Given the description of an element on the screen output the (x, y) to click on. 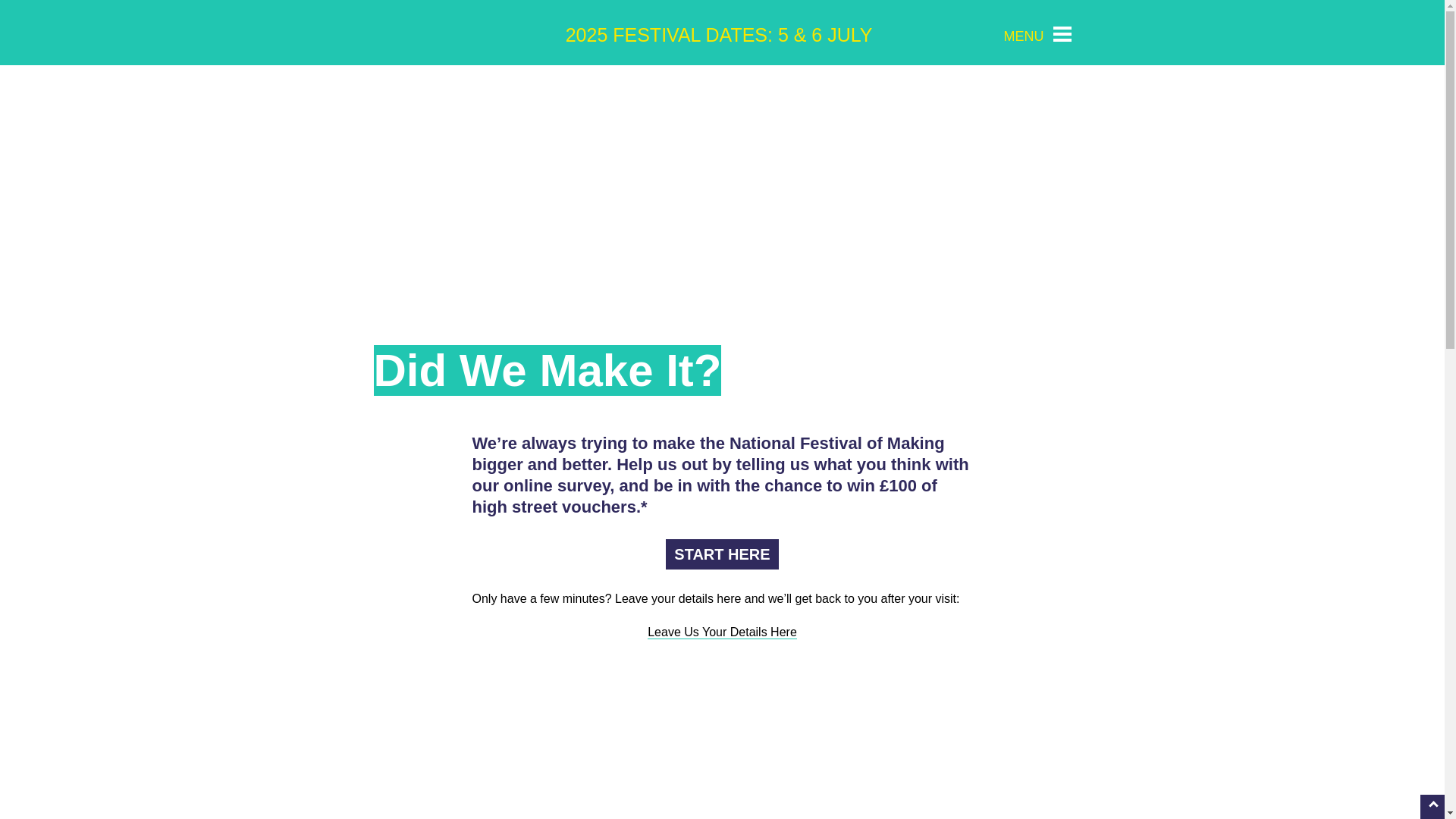
youtube (962, 33)
tiktok (983, 33)
START HERE (721, 553)
twitter (919, 33)
Facebook (898, 33)
instagram (940, 33)
The National Festival of Making (456, 32)
Leave Us Your Details Here (721, 632)
